Given the description of an element on the screen output the (x, y) to click on. 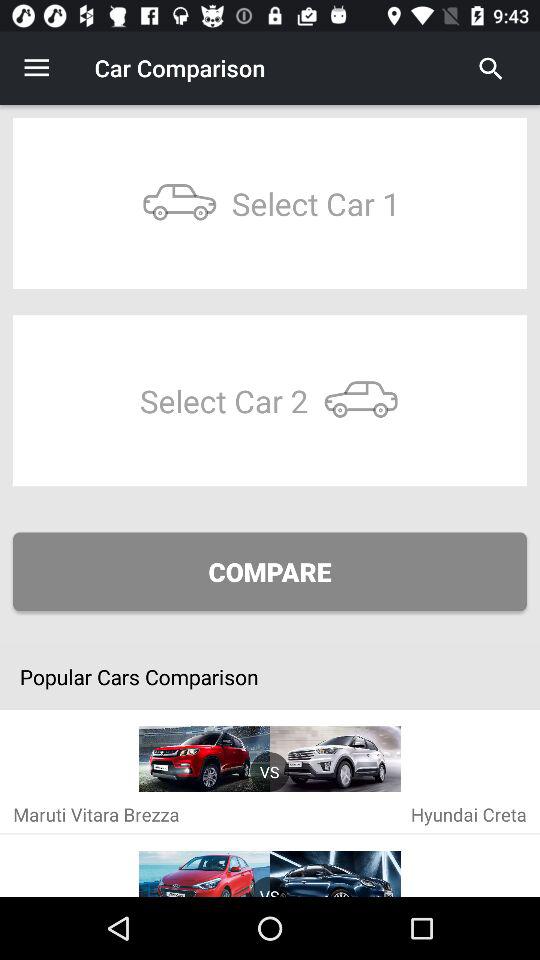
click the item next to car comparison item (36, 68)
